Given the description of an element on the screen output the (x, y) to click on. 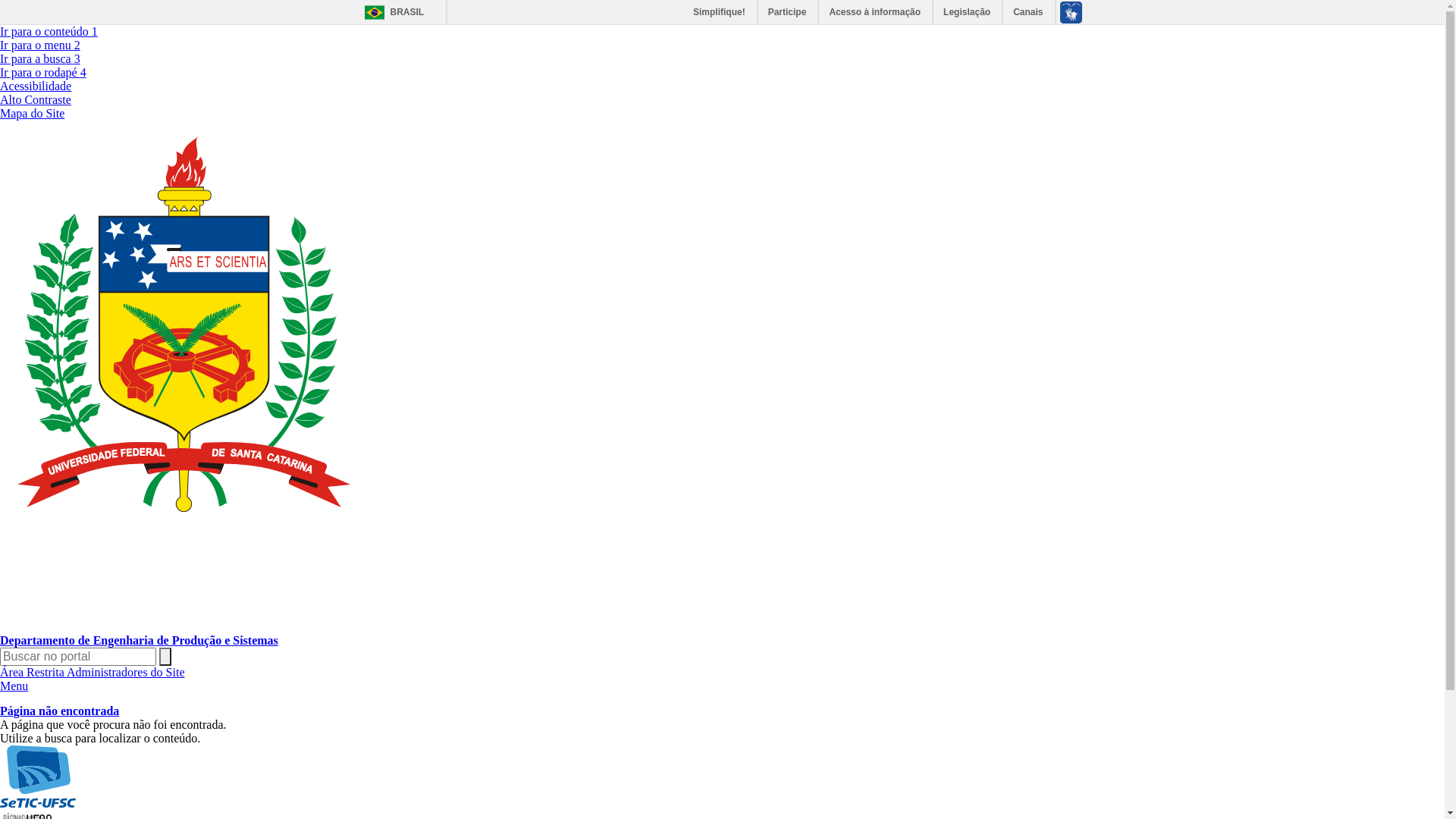
Menu Element type: text (14, 685)
Acessibilidade Element type: text (35, 85)
Participe Element type: text (788, 11)
Simplifique! Element type: text (719, 11)
Ir para a busca 3 Element type: text (40, 58)
Canais Element type: text (1028, 11)
Ir para o menu 2 Element type: text (40, 44)
Alto Contraste Element type: text (35, 99)
Administradores do Site Element type: text (125, 671)
BRASIL Element type: text (389, 12)
Mapa do Site Element type: text (32, 112)
